Given the description of an element on the screen output the (x, y) to click on. 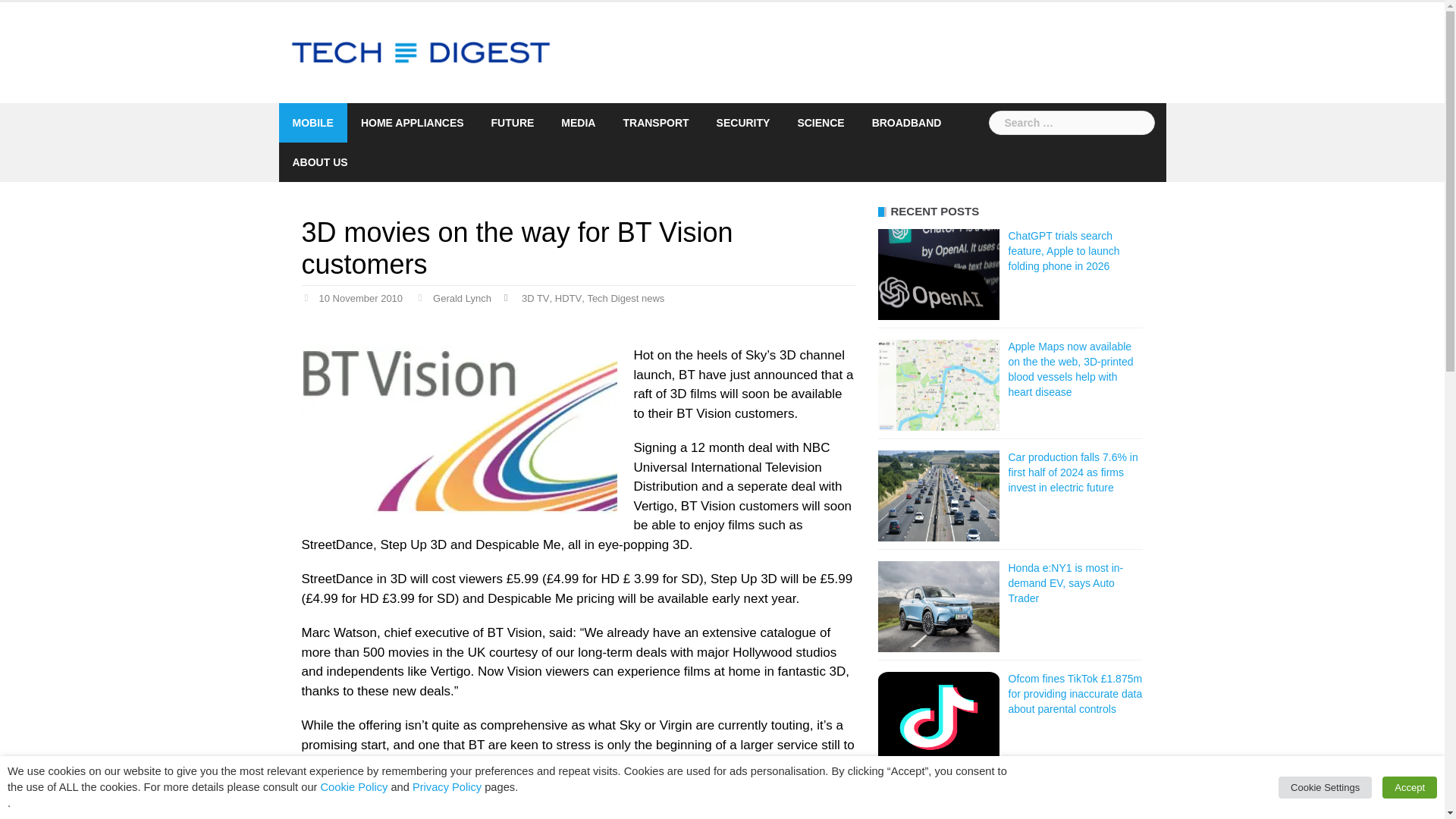
HOME APPLIANCES (412, 122)
Tech Digest (421, 51)
FUTURE (513, 122)
MOBILE (312, 122)
